Given the description of an element on the screen output the (x, y) to click on. 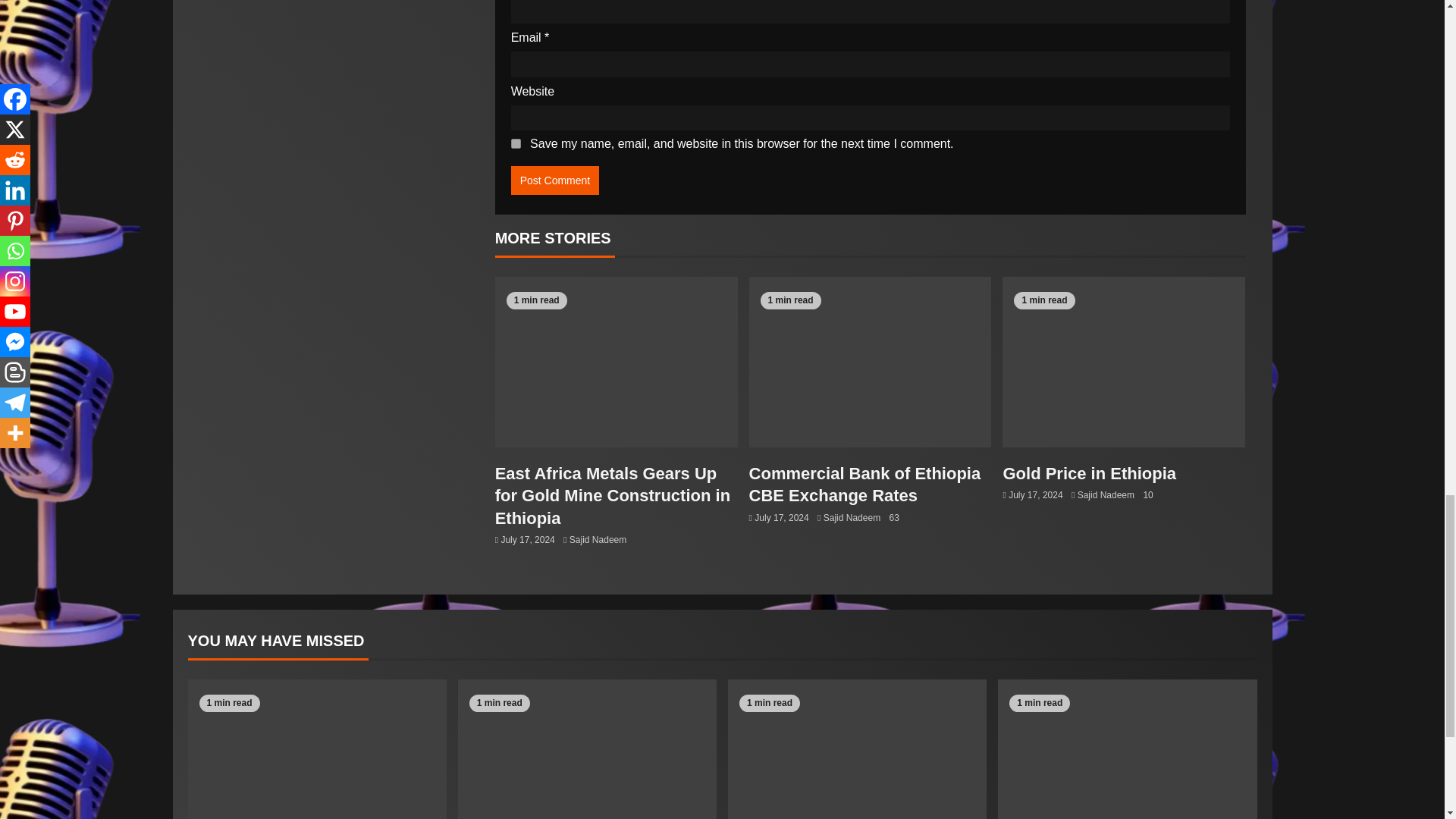
Post Comment (555, 180)
yes (516, 143)
